Given the description of an element on the screen output the (x, y) to click on. 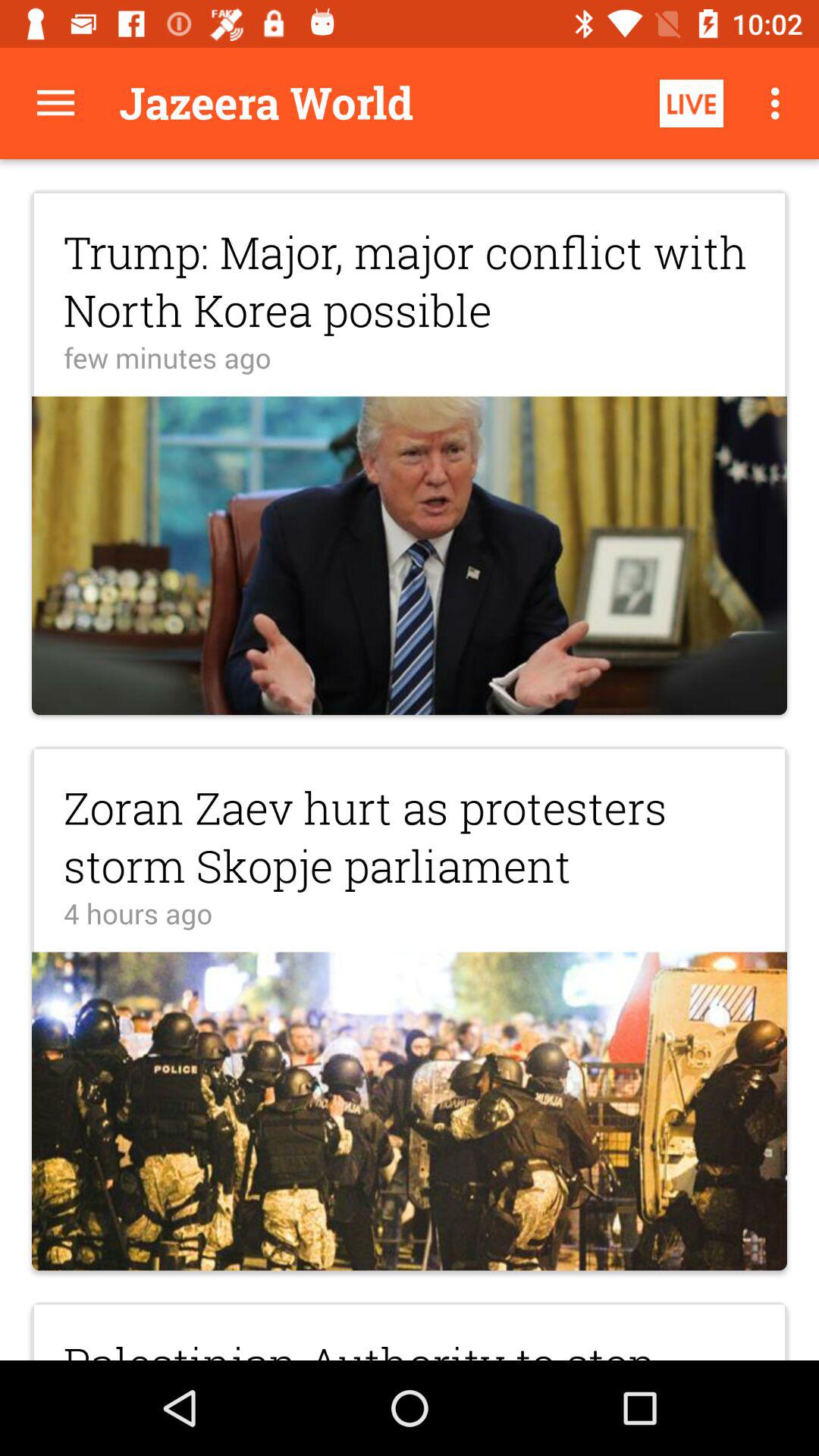
select the icon next to jazeera world item (691, 103)
